Given the description of an element on the screen output the (x, y) to click on. 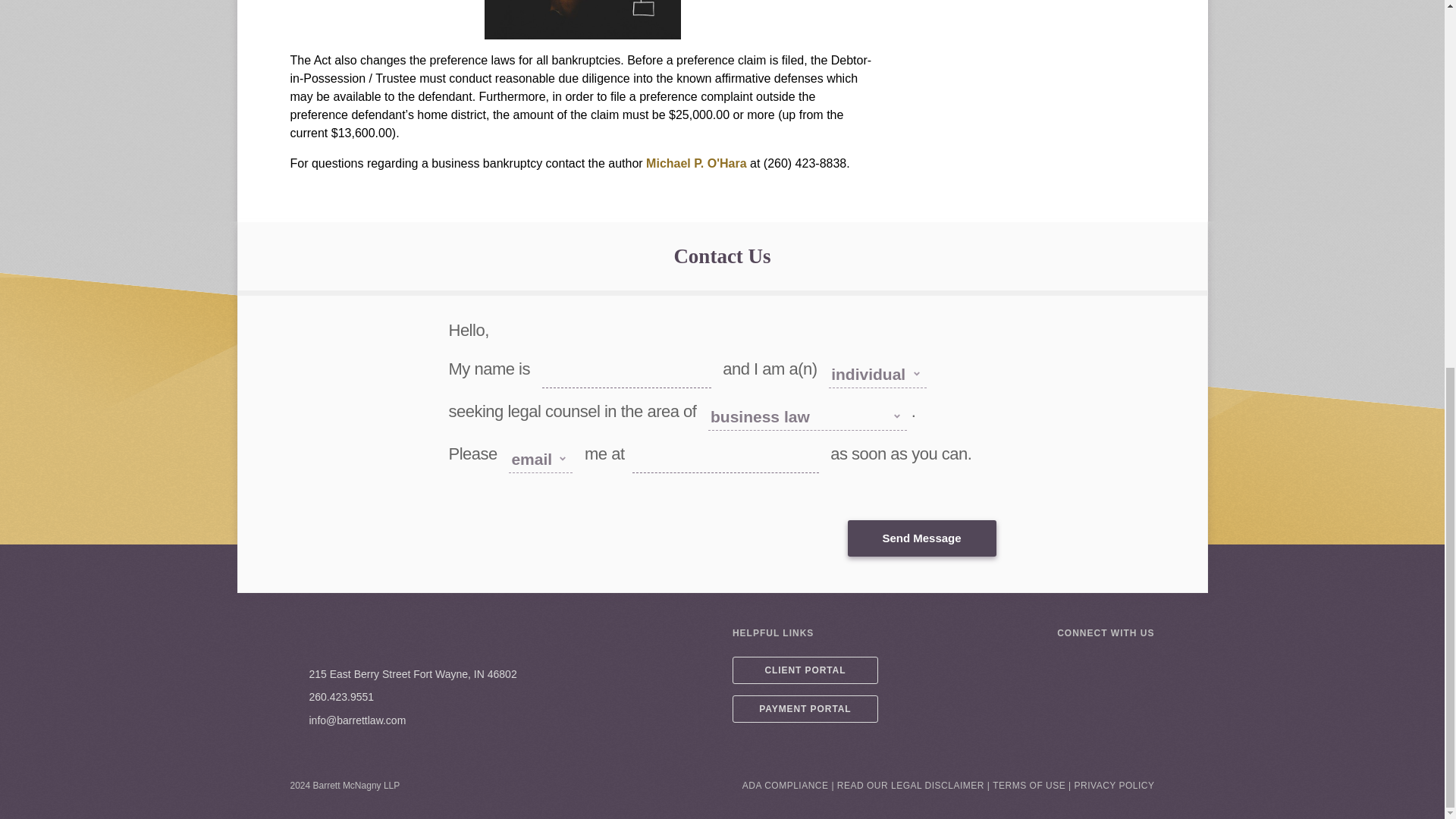
Barrett McNagny LLP (374, 638)
email (294, 720)
location pin (294, 674)
phone (294, 697)
